Given the description of an element on the screen output the (x, y) to click on. 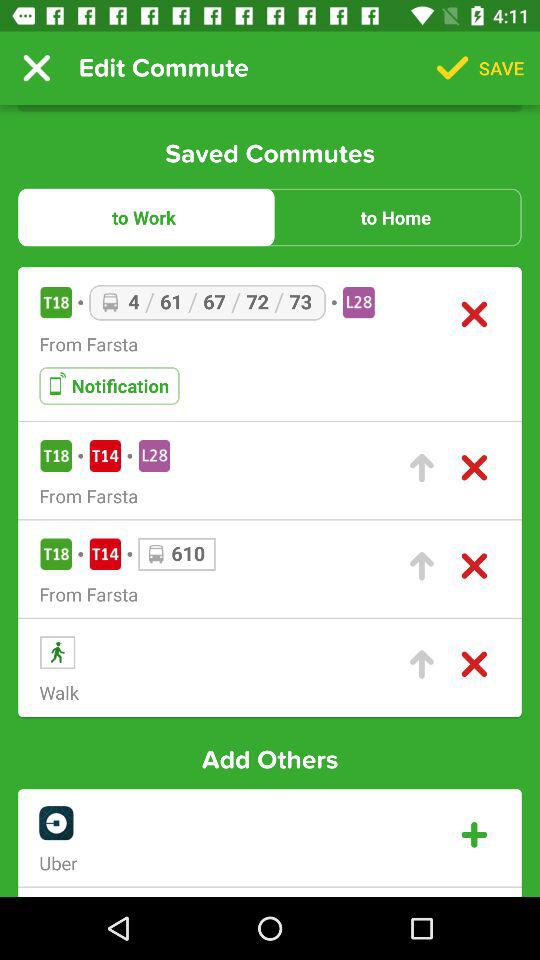
delete unwanted routes (474, 566)
